Given the description of an element on the screen output the (x, y) to click on. 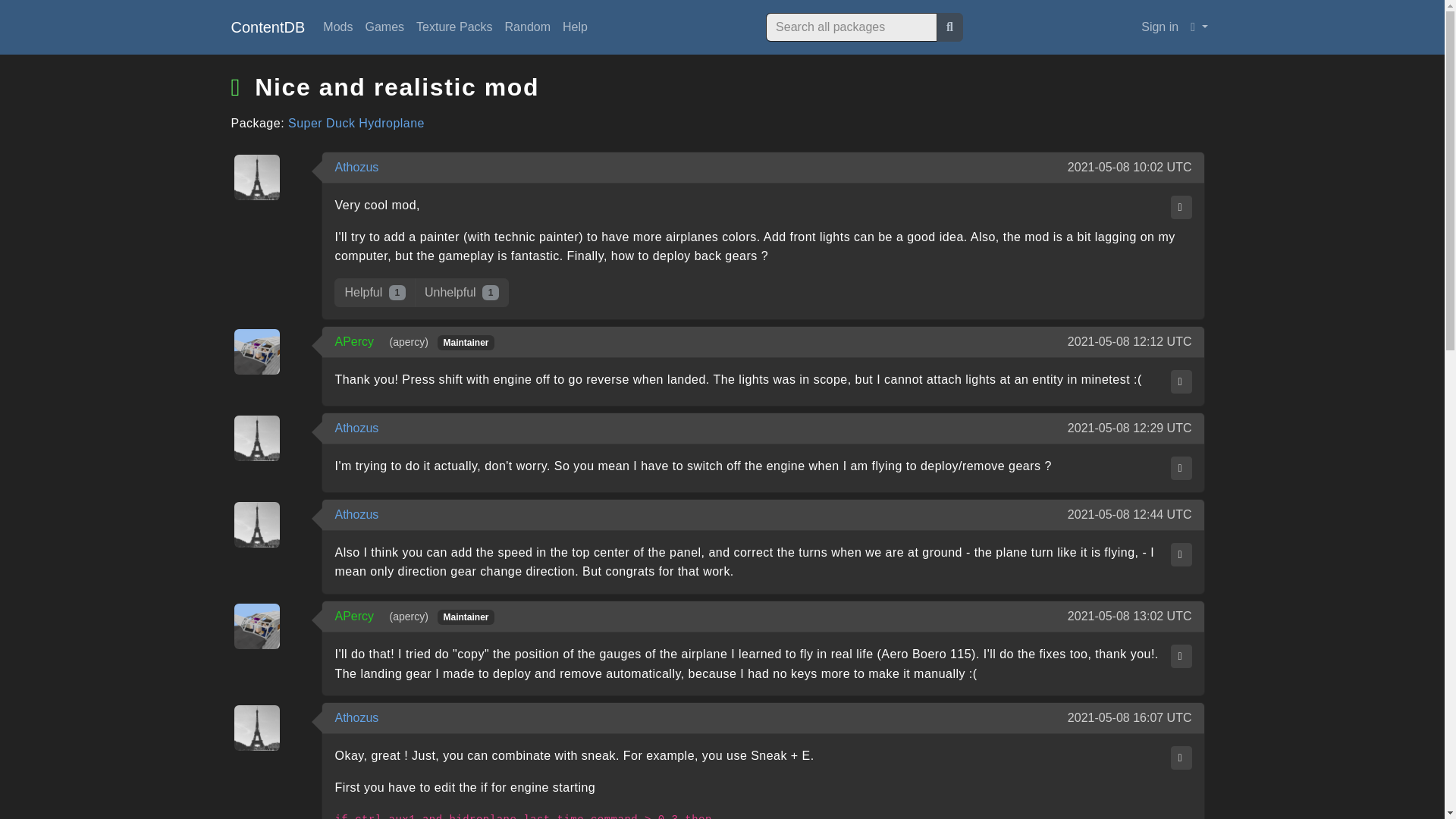
Search (949, 27)
2021-05-08 12:29 UTC (1129, 428)
Help (575, 27)
Athozus (356, 166)
2021-05-08 12:44 UTC (1129, 515)
Super Duck Hydroplane (356, 123)
2021-05-08 12:12 UTC (1129, 341)
Games (384, 27)
2021-05-08 10:02 UTC (1129, 167)
Texture Packs (453, 27)
